Given the description of an element on the screen output the (x, y) to click on. 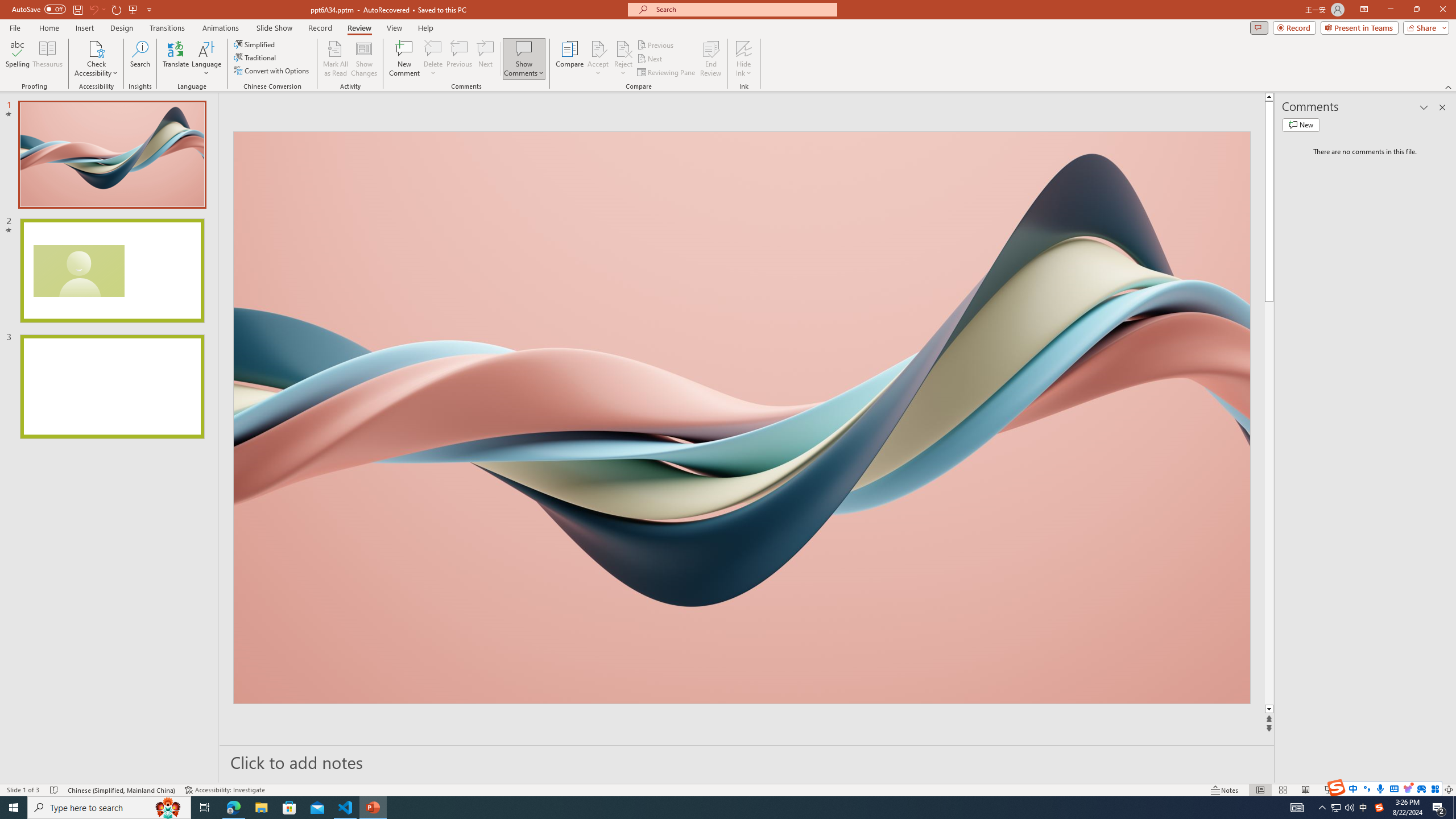
New comment (1300, 124)
